Given the description of an element on the screen output the (x, y) to click on. 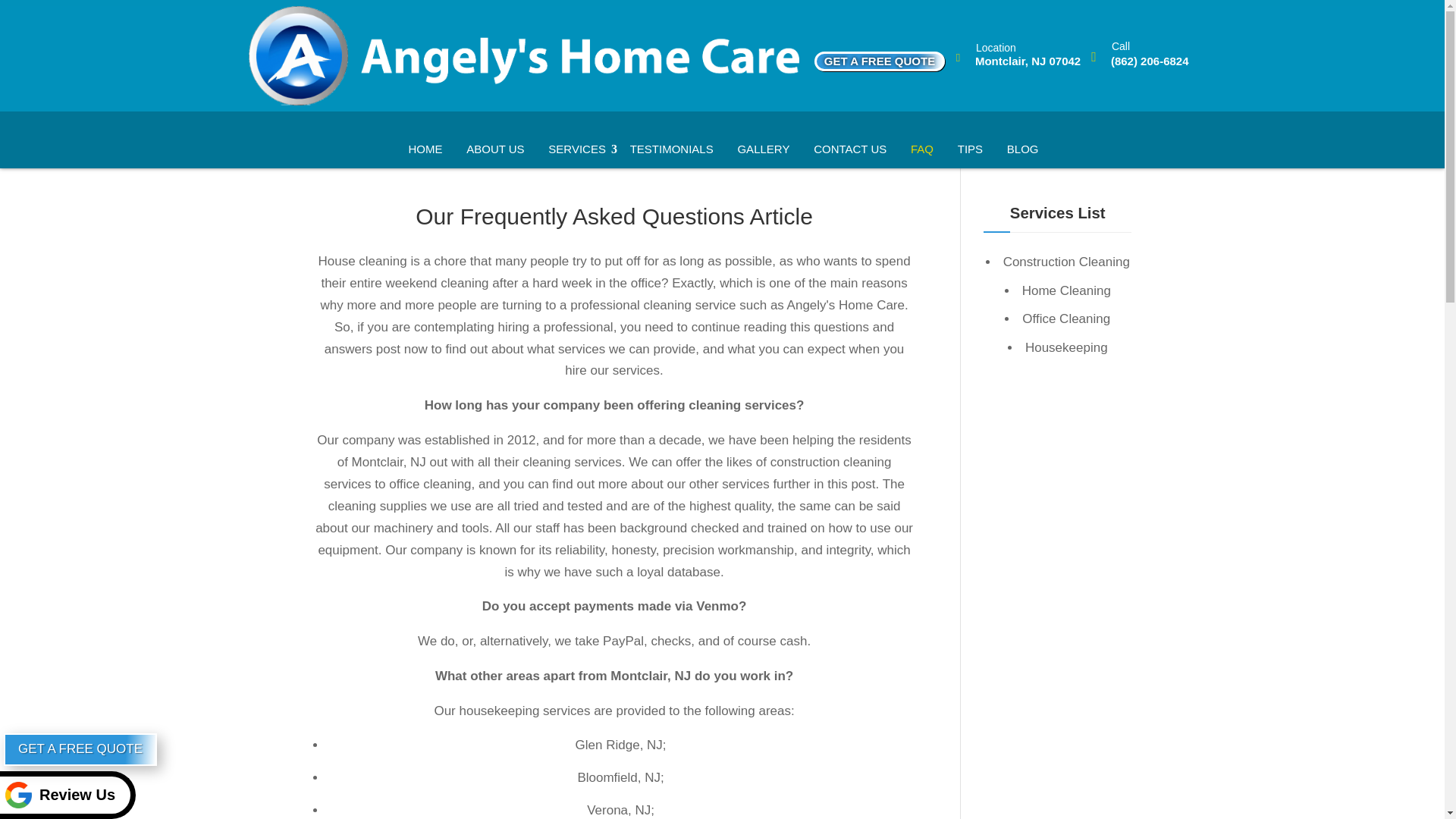
ABOUT US (494, 149)
CONTACT US (850, 149)
TESTIMONIALS (671, 149)
SERVICES (577, 149)
GET A FREE QUOTE (80, 749)
GET A FREE QUOTE (878, 61)
Review Us (67, 795)
GALLERY (762, 149)
